Given the description of an element on the screen output the (x, y) to click on. 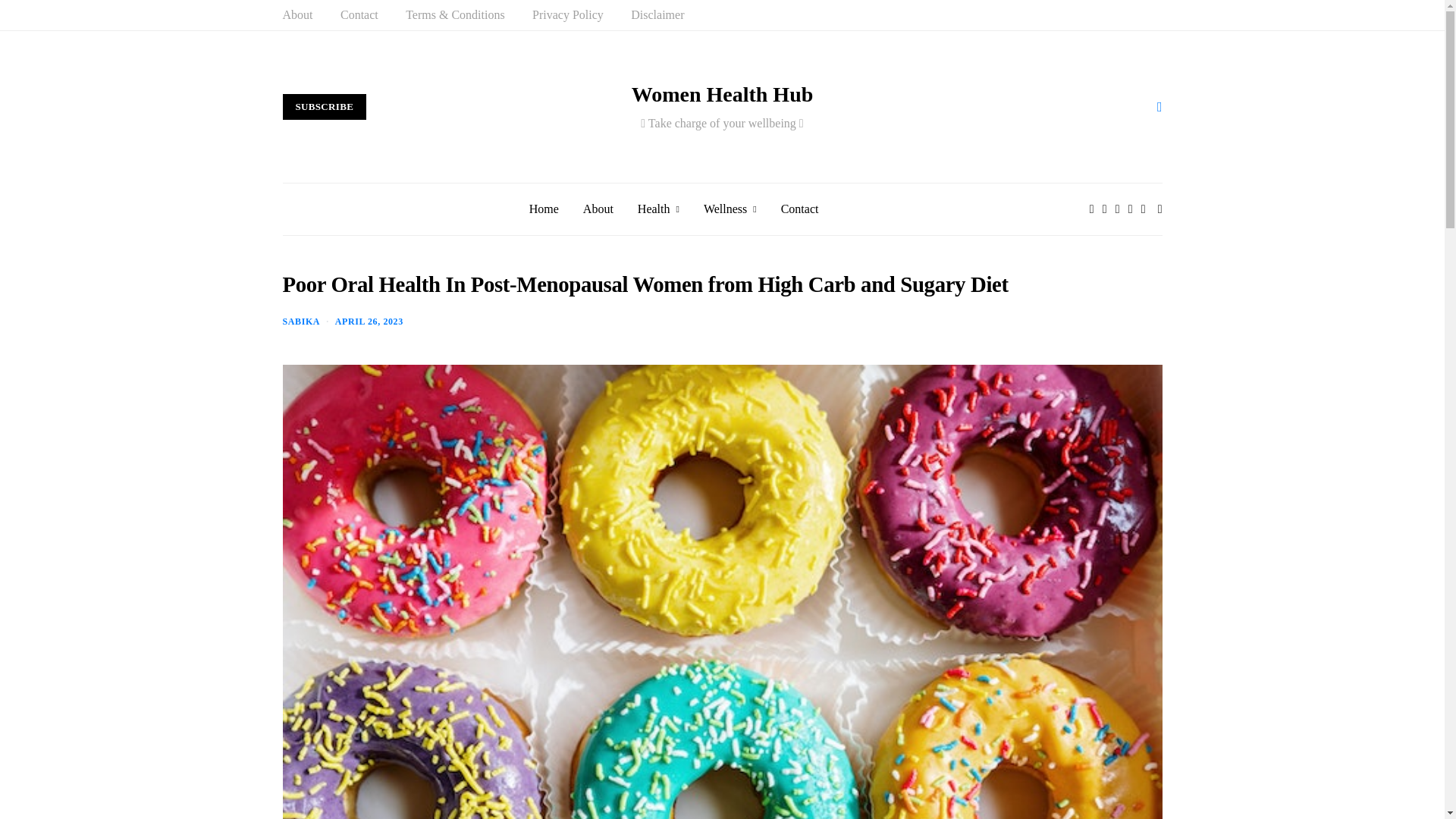
Women Health Hub (722, 94)
Privacy Policy (568, 14)
SUBSCRIBE (324, 106)
About (297, 14)
Disclaimer (657, 14)
View all posts by Sabika (301, 321)
Contact (359, 14)
